Given the description of an element on the screen output the (x, y) to click on. 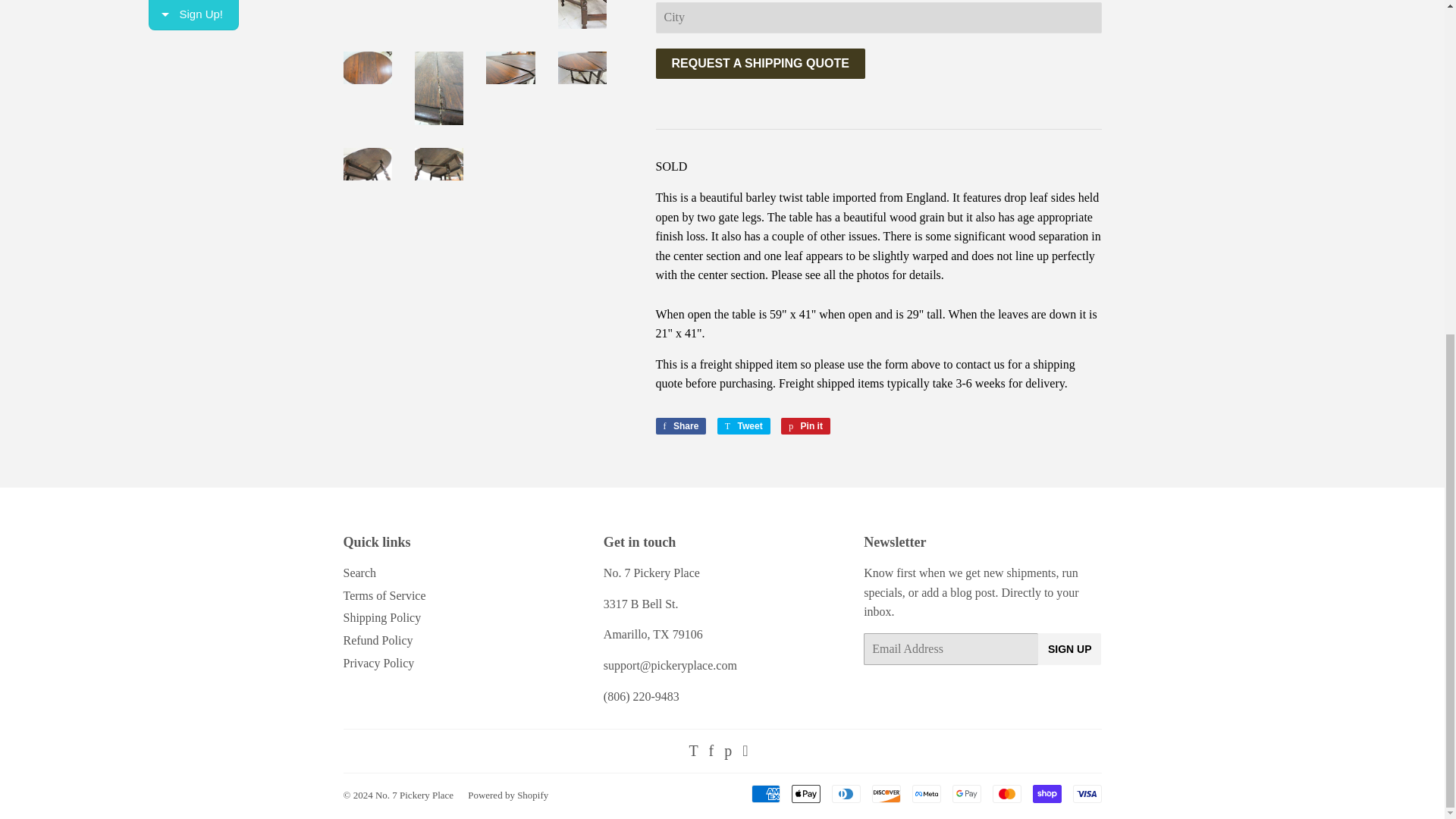
Diners Club (845, 793)
American Express (764, 793)
Mastercard (1005, 793)
Share on Facebook (680, 425)
Pin on Pinterest (804, 425)
Request a shipping quote (759, 63)
Tweet on Twitter (743, 425)
Visa (1085, 793)
Meta Pay (925, 793)
Google Pay (966, 793)
Apple Pay (806, 793)
Discover (886, 793)
Shop Pay (1046, 793)
